Given the description of an element on the screen output the (x, y) to click on. 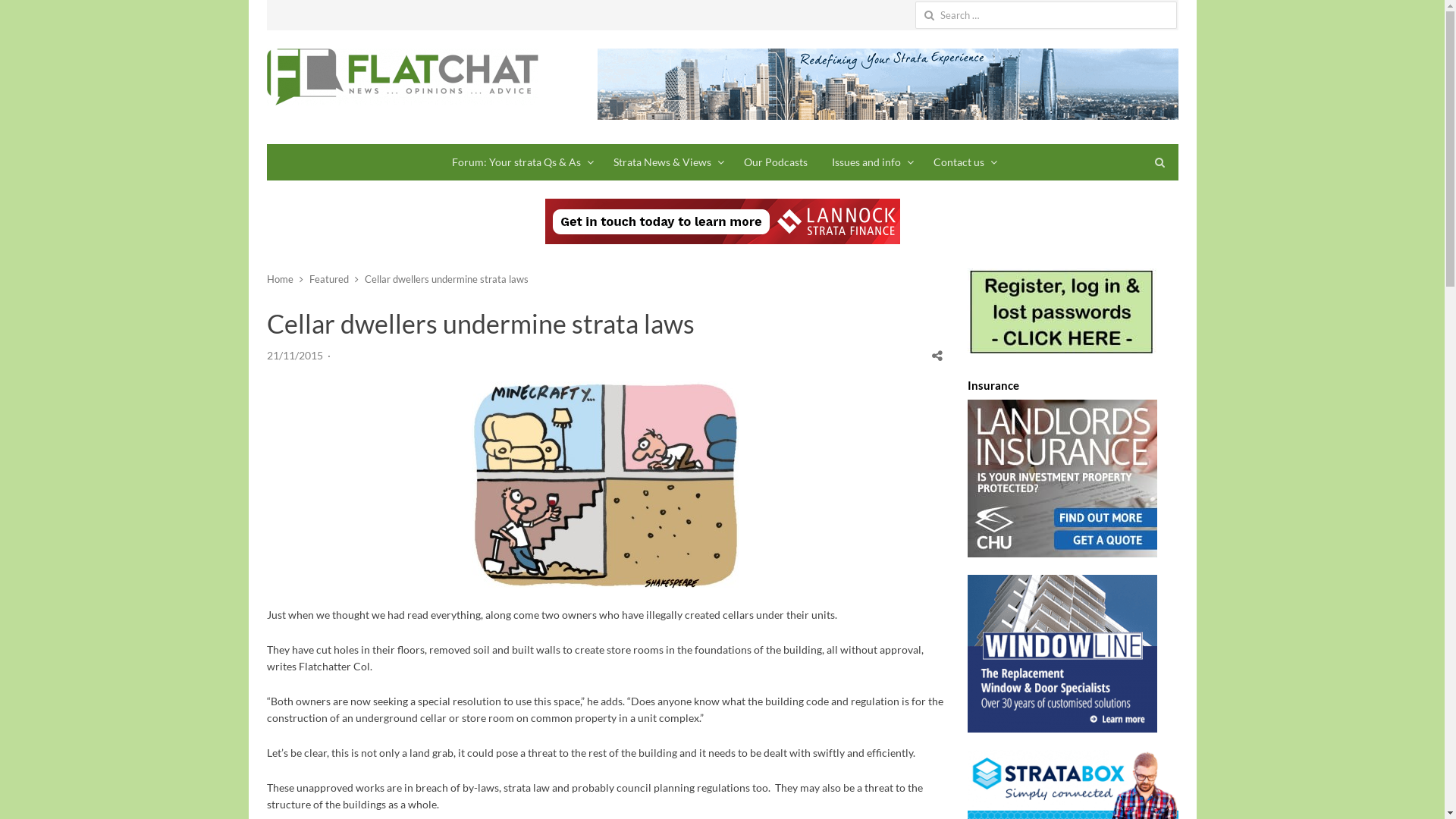
Our Podcasts Element type: text (775, 162)
FLAT CHAT Element type: hover (402, 76)
Share this post Element type: text (936, 355)
Forum: Your strata Qs & As Element type: text (520, 162)
Open search panel Element type: text (1159, 161)
Issues and info Element type: text (870, 162)
Contact us Element type: text (962, 162)
Search Element type: text (26, 13)
Home Element type: text (279, 279)
Strata News & Views Element type: text (666, 162)
Featured Element type: text (328, 279)
Search Element type: text (26, 13)
